Given the description of an element on the screen output the (x, y) to click on. 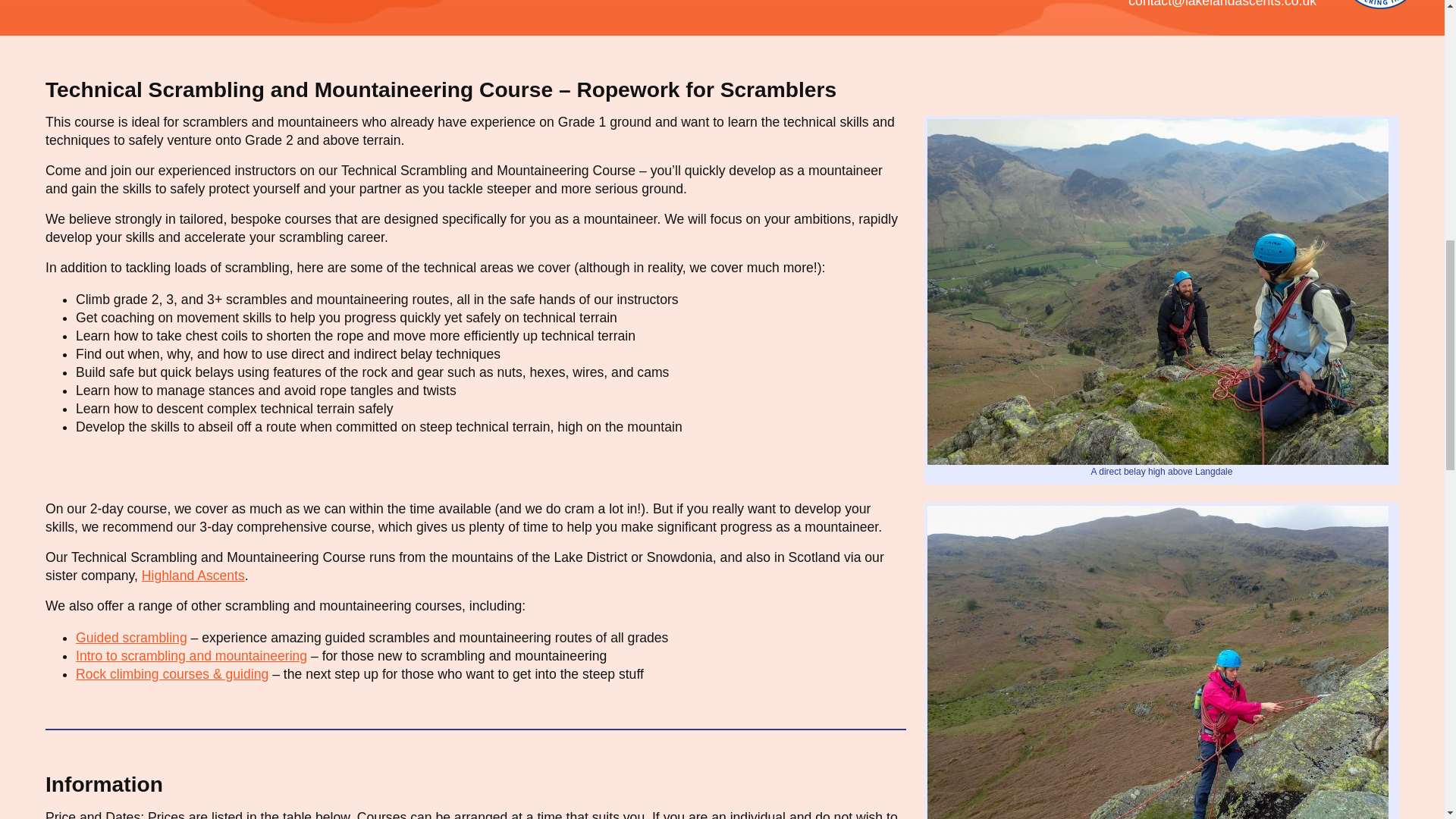
Association of Mountaineering Instructors (1380, 4)
